Given the description of an element on the screen output the (x, y) to click on. 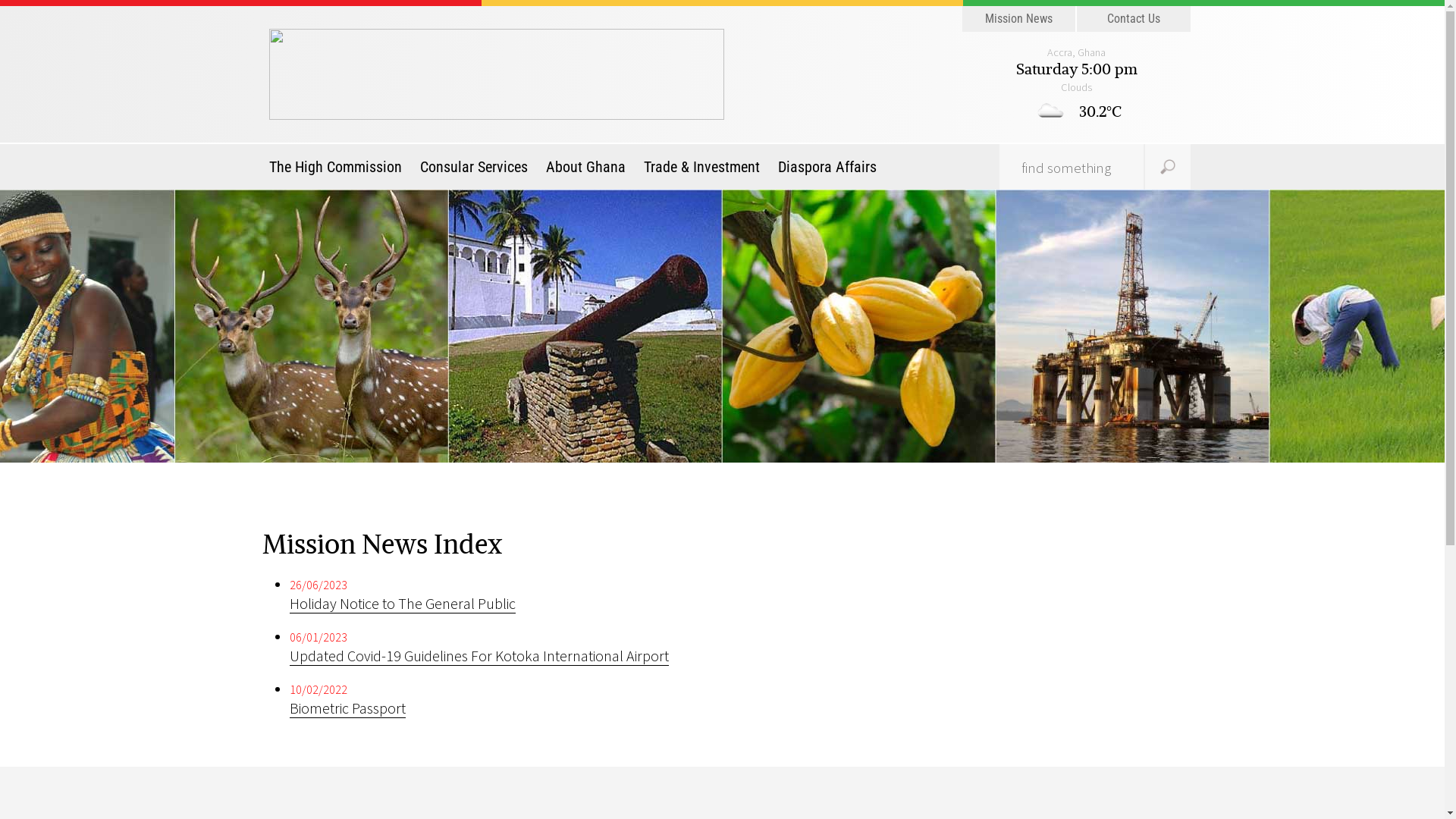
Home Page - Ghana High Commission - Canberra Australia Element type: hover (496, 72)
Updated Covid-19 Guidelines For Kotoka International Airport Element type: text (478, 655)
Diaspora Affairs Element type: text (827, 166)
About Ghana Element type: text (585, 166)
Contact Us Element type: text (1133, 18)
The High Commission Element type: text (339, 166)
Consular Services Element type: text (473, 166)
Holiday Notice to The General Public Element type: text (402, 603)
Mission News Element type: text (1019, 18)
Biometric Passport Element type: text (347, 708)
Trade & Investment Element type: text (701, 166)
